Given the description of an element on the screen output the (x, y) to click on. 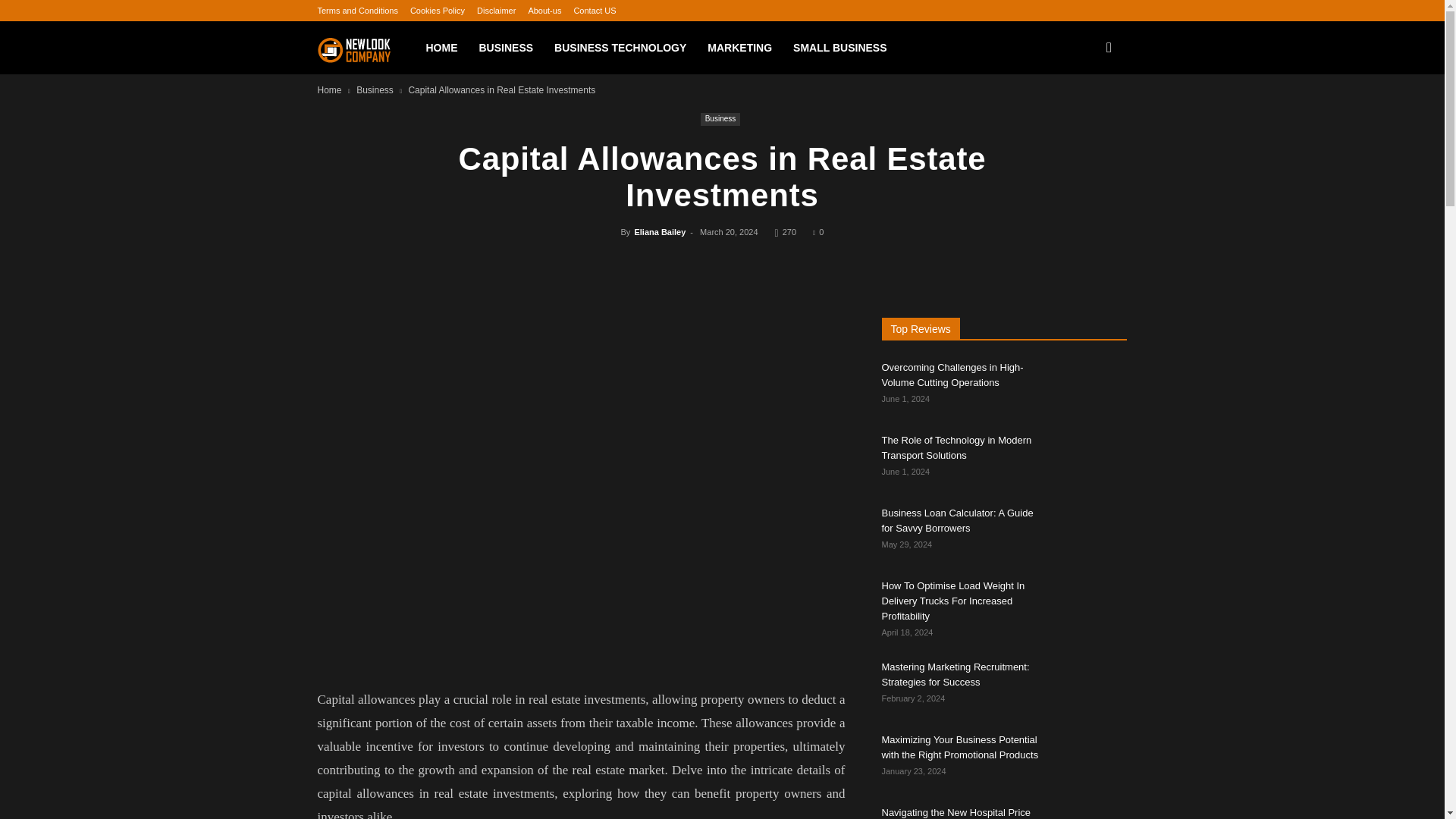
View all posts in Business (374, 90)
BUSINESS (506, 47)
Business (374, 90)
Eliana Bailey (659, 231)
Terms and Conditions (357, 10)
Start a business with Newlookcompany.net (365, 47)
0 (818, 231)
BUSINESS TECHNOLOGY (620, 47)
Disclaimer (496, 10)
Search (1083, 117)
Business (720, 119)
MARKETING (740, 47)
Cookies Policy (437, 10)
Home (328, 90)
HOME (441, 47)
